Given the description of an element on the screen output the (x, y) to click on. 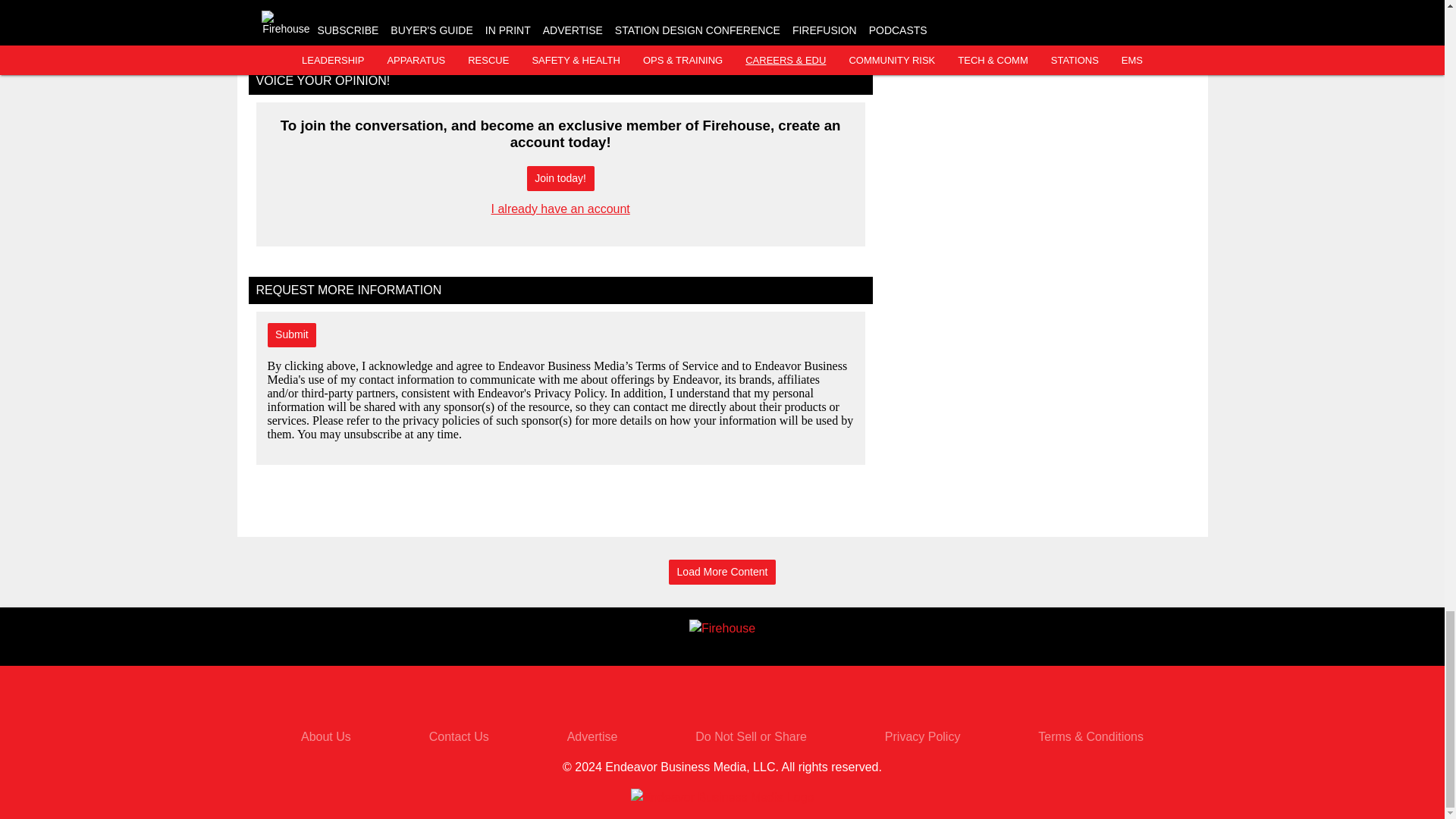
I already have an account (561, 208)
iafc logo 599afe764e75c (617, 18)
National Fire Protection Association (459, 12)
nfpa logo 5942a119dcb25 (307, 18)
Submit (290, 335)
Join today! (560, 178)
International Association of Fire Chiefs - IAFC (770, 12)
